Given the description of an element on the screen output the (x, y) to click on. 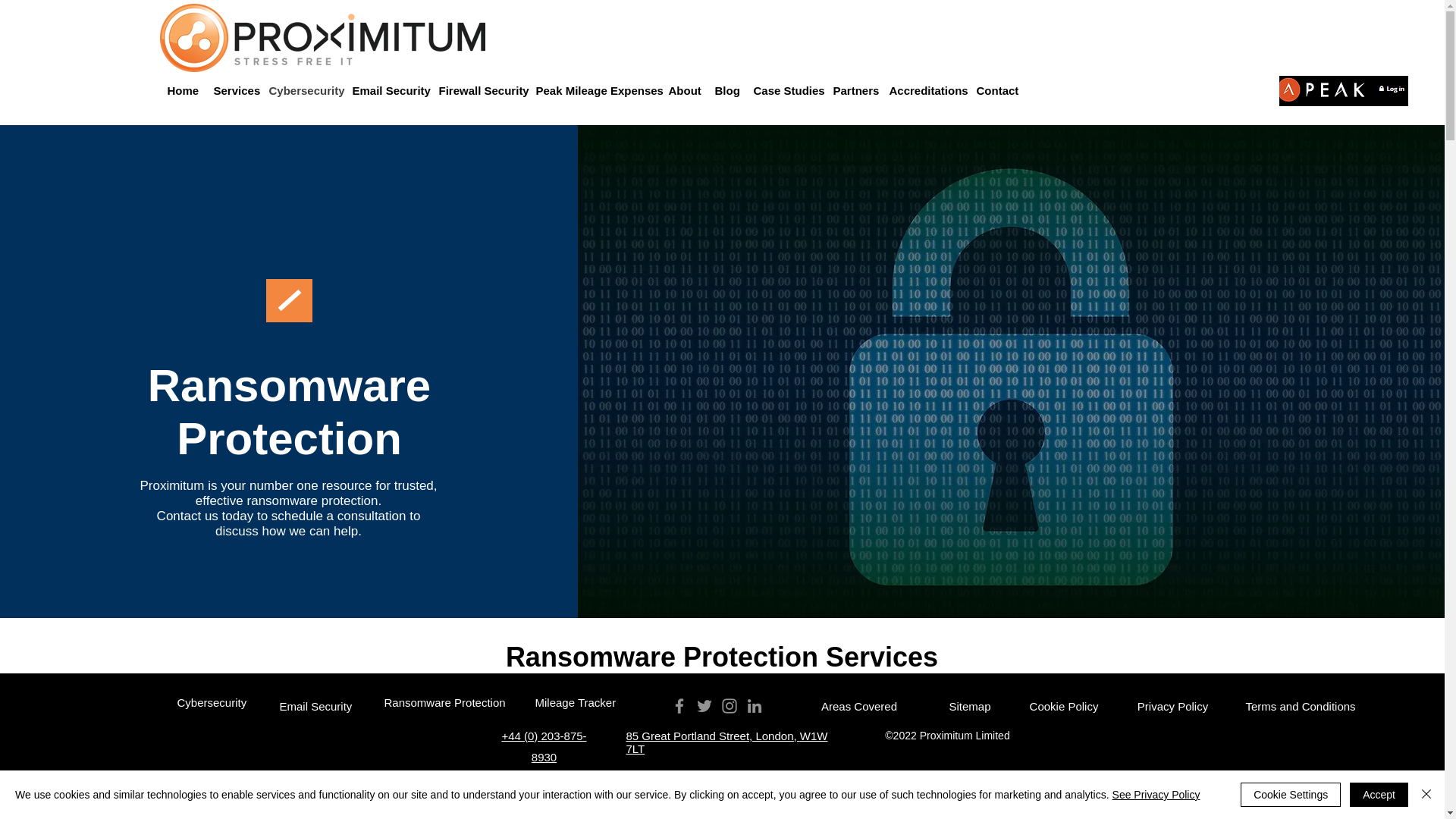
Services (234, 90)
Blog (725, 90)
Home (181, 90)
Accreditations (924, 90)
Email Security (386, 90)
Partners (852, 90)
About (684, 90)
Firewall Security (478, 90)
Cybersecurity (301, 90)
Peak Mileage Expenses (594, 90)
